Given the description of an element on the screen output the (x, y) to click on. 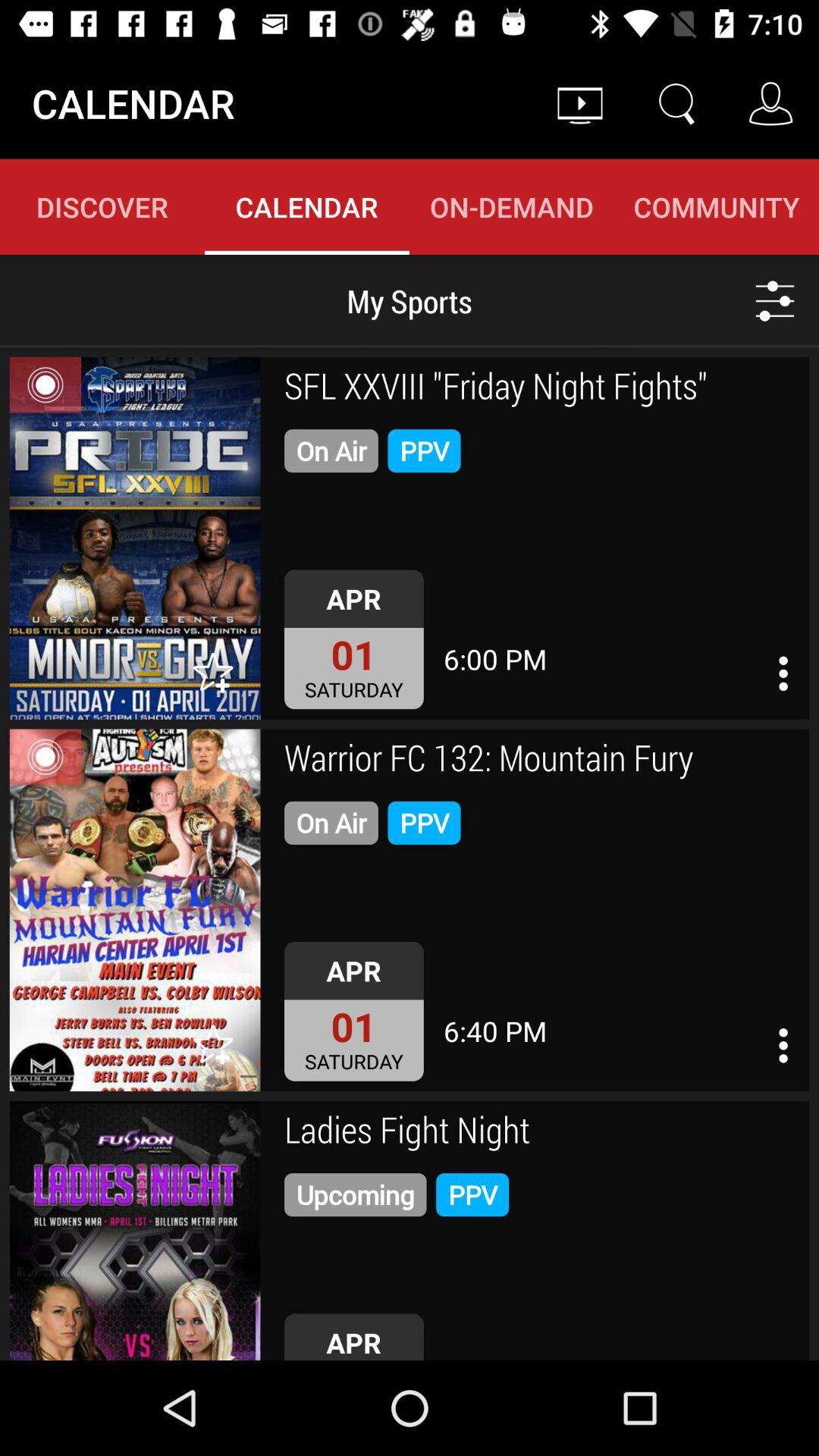
click the icon below community (775, 300)
